Given the description of an element on the screen output the (x, y) to click on. 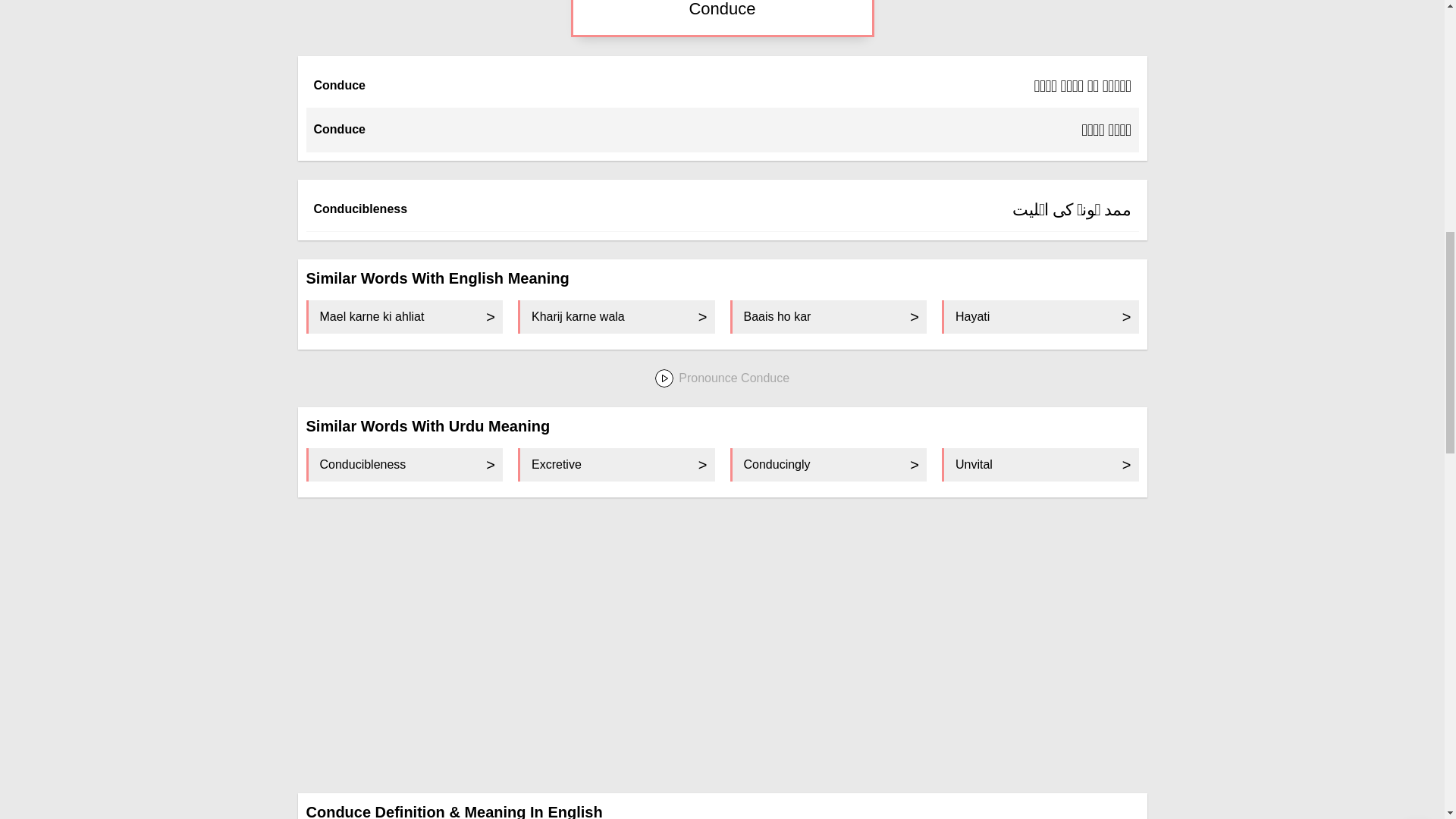
Pronounce Conduce (721, 378)
Conduce (339, 128)
Conducibleness (404, 464)
Conduce (339, 84)
Conduce (722, 10)
Mael karne ki ahliat (404, 316)
Conducibleness (360, 208)
Hayati (1040, 316)
Baais ho kar (827, 316)
Kharij karne wala (616, 316)
